Given the description of an element on the screen output the (x, y) to click on. 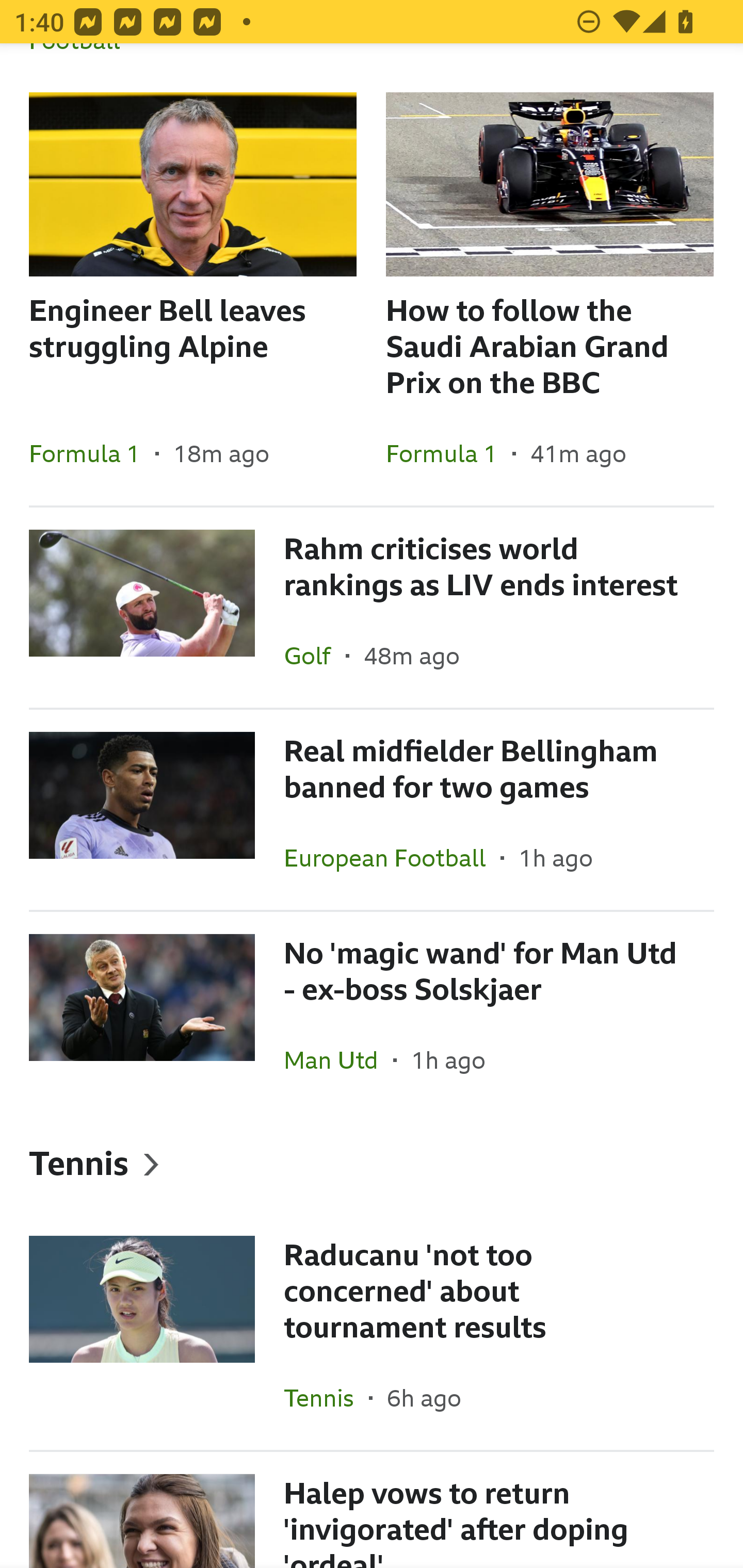
European Football In the section European Football (391, 857)
Man Utd In the section Man Utd (338, 1059)
Tennis, Heading Tennis    (371, 1162)
